Given the description of an element on the screen output the (x, y) to click on. 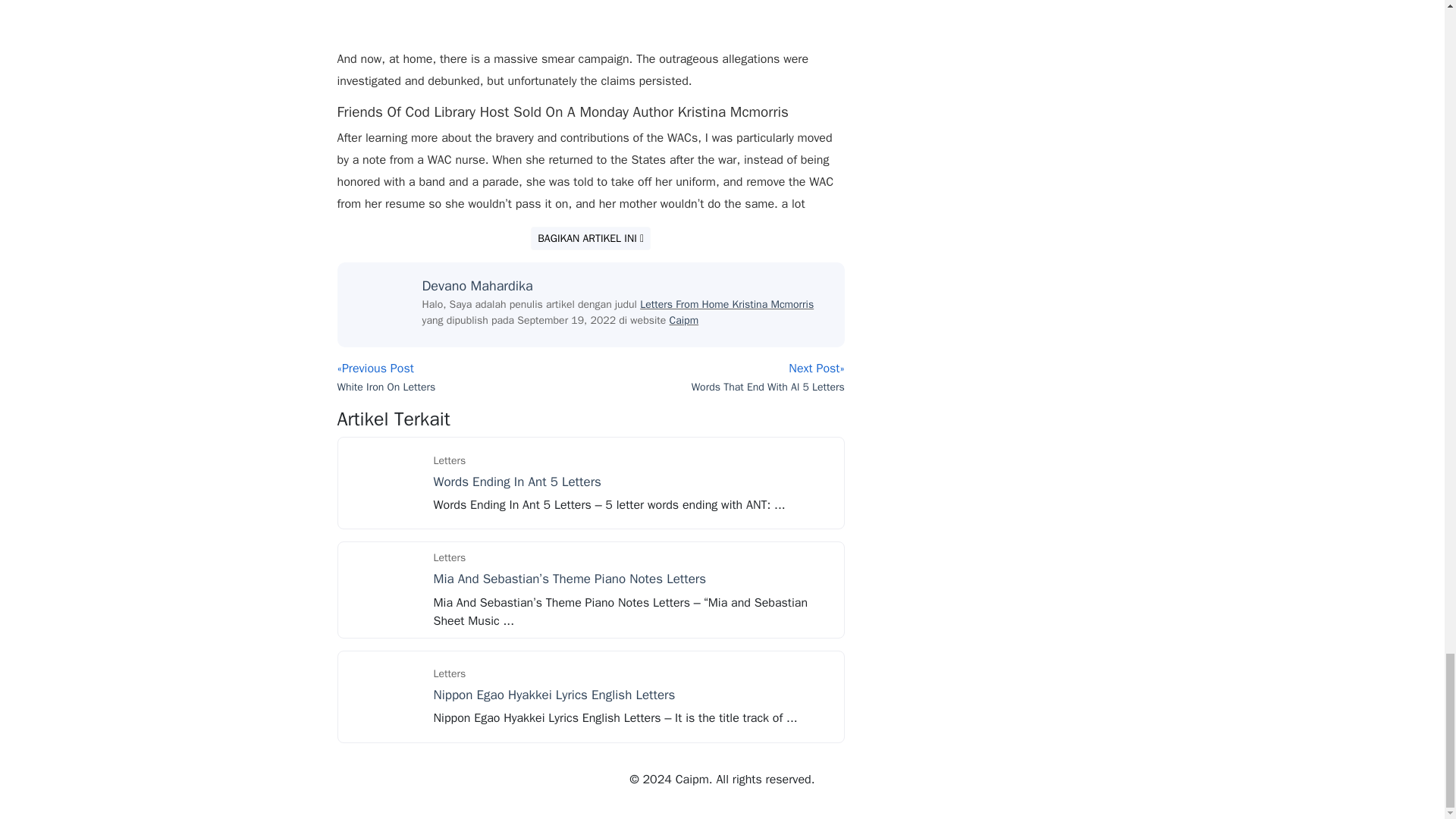
BAGIKAN ARTIKEL INI (590, 238)
Letters (449, 673)
Letters From Home Kristina Mcmorris (726, 304)
Letters From Home Kristina Mcmorris (726, 304)
Letters (449, 557)
Words Ending In Ant 5 Letters (384, 482)
Nippon Egao Hyakkei Lyrics English Letters (554, 694)
Caipm (683, 319)
Devano Mahardika (477, 285)
Letters (449, 460)
Caipm (683, 319)
Words Ending In Ant 5 Letters (517, 481)
